Given the description of an element on the screen output the (x, y) to click on. 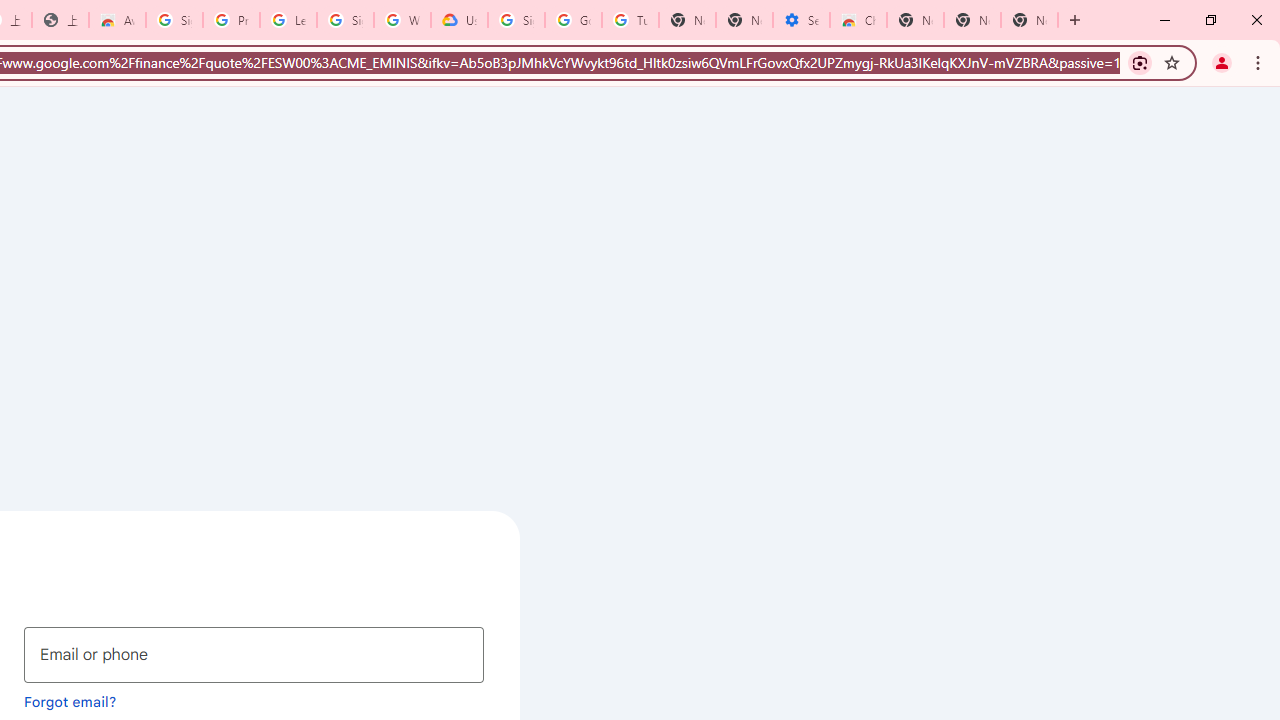
Search with Google Lens (1139, 62)
Who are Google's partners? - Privacy and conditions - Google (402, 20)
Forgot email? (70, 701)
New Tab (915, 20)
